Given the description of an element on the screen output the (x, y) to click on. 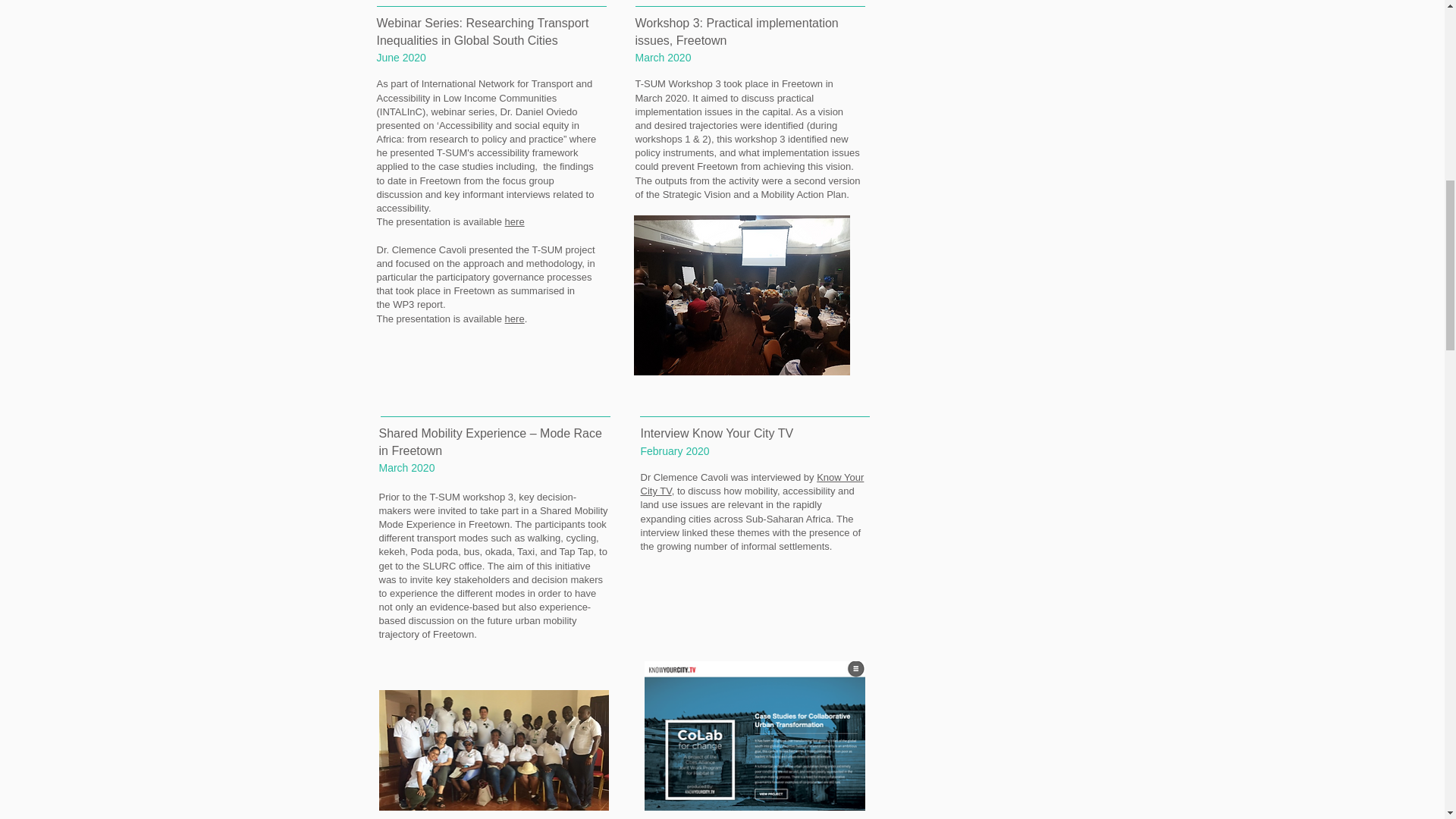
here (514, 318)
here (514, 221)
Know Your City TV (751, 483)
